Given the description of an element on the screen output the (x, y) to click on. 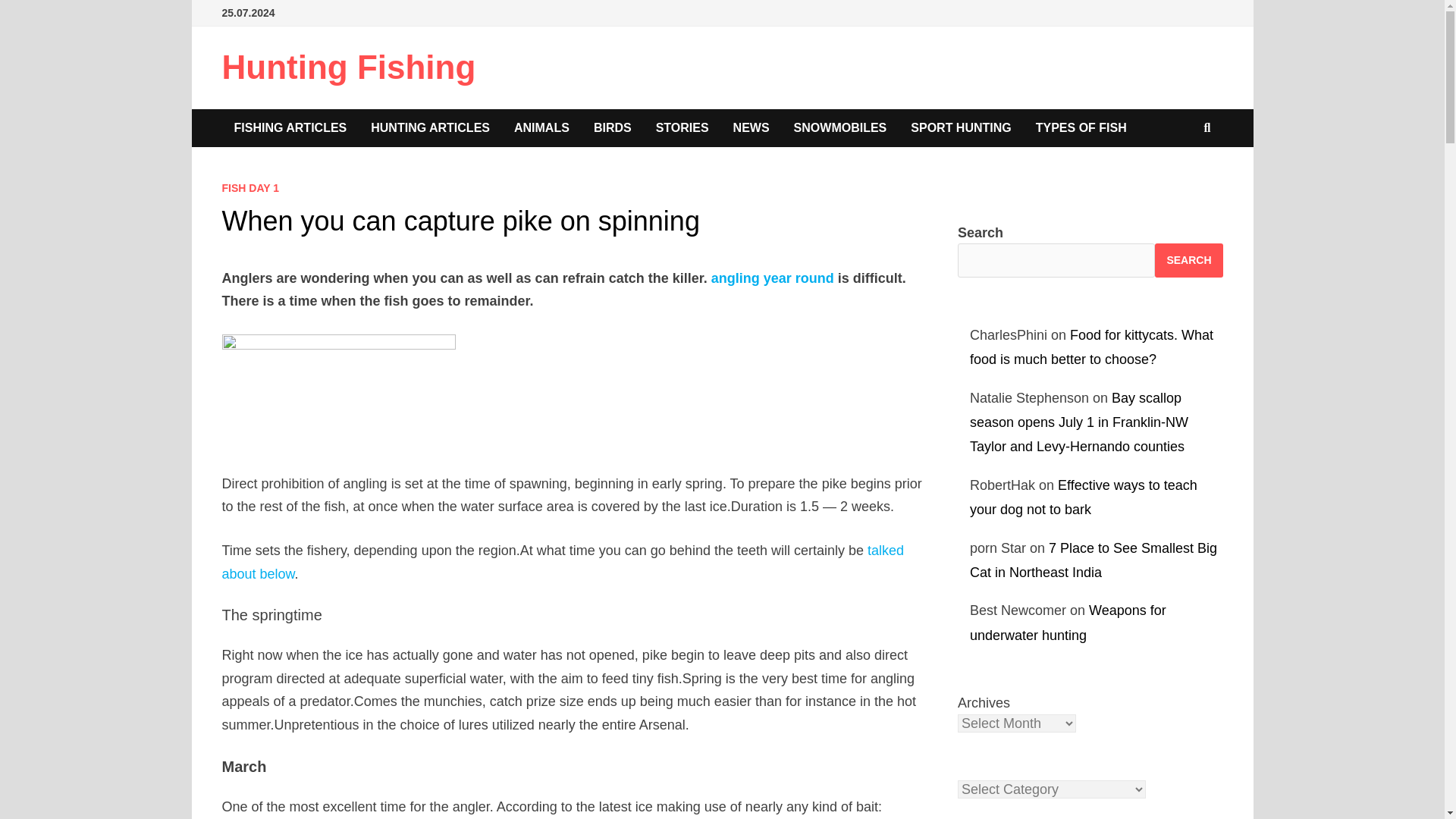
SNOWMOBILES (840, 127)
SEARCH (1188, 260)
Food for kittycats. What food is much better to choose? (1090, 346)
SPORT HUNTING (960, 127)
ANIMALS (541, 127)
FISHING ARTICLES (289, 127)
TYPES OF FISH (1080, 127)
HUNTING ARTICLES (430, 127)
Hunting Fishing (348, 66)
talked about below (562, 561)
FISH DAY 1 (249, 187)
NEWS (750, 127)
STORIES (681, 127)
angling year round (772, 278)
BIRDS (611, 127)
